Given the description of an element on the screen output the (x, y) to click on. 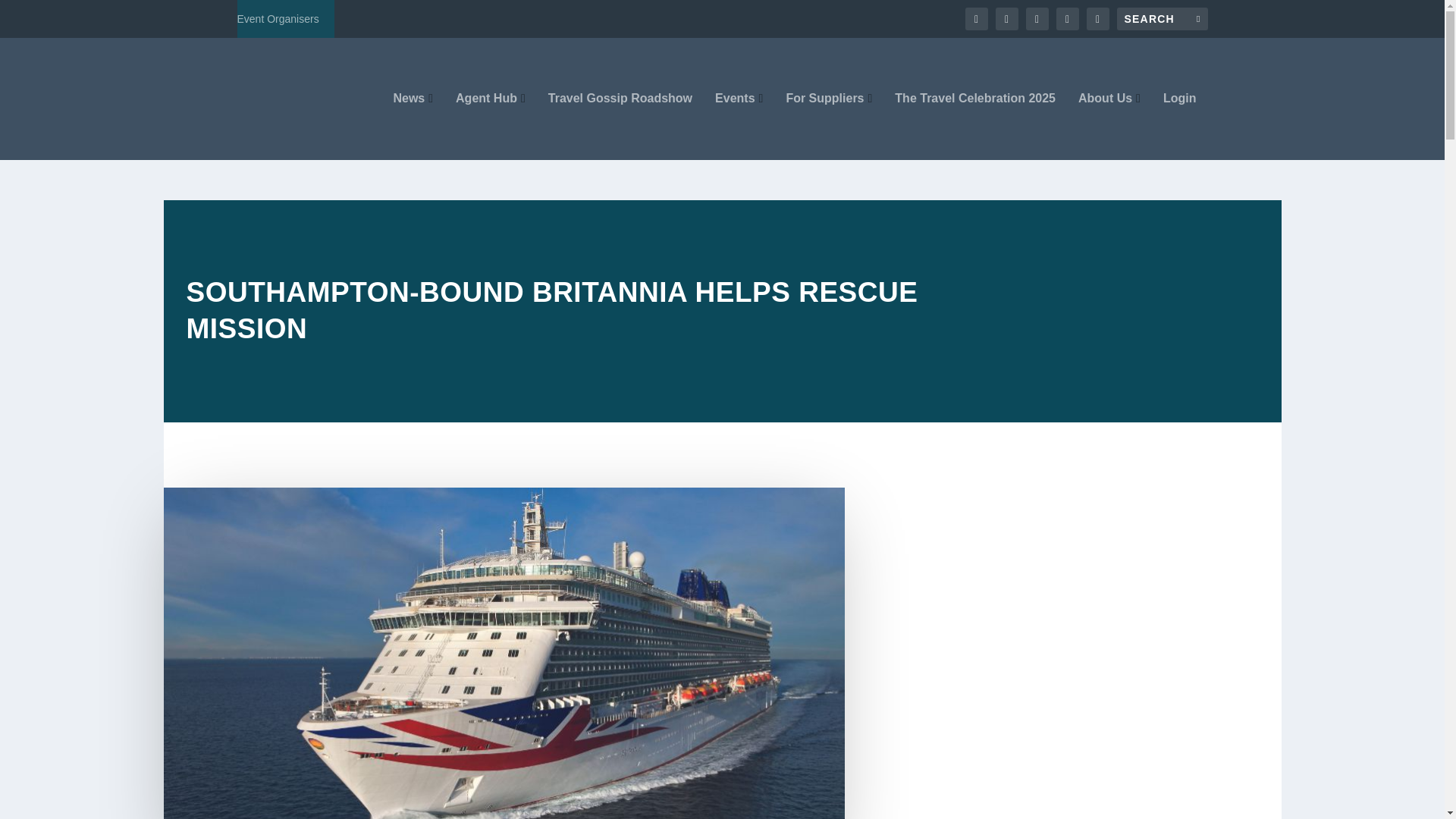
Event Organisers (276, 18)
The Travel Celebration 2025 (975, 125)
For Suppliers (829, 125)
Search for: (1161, 18)
About Us (1109, 125)
Agent Hub (490, 125)
Travel Gossip Roadshow (620, 125)
